Given the description of an element on the screen output the (x, y) to click on. 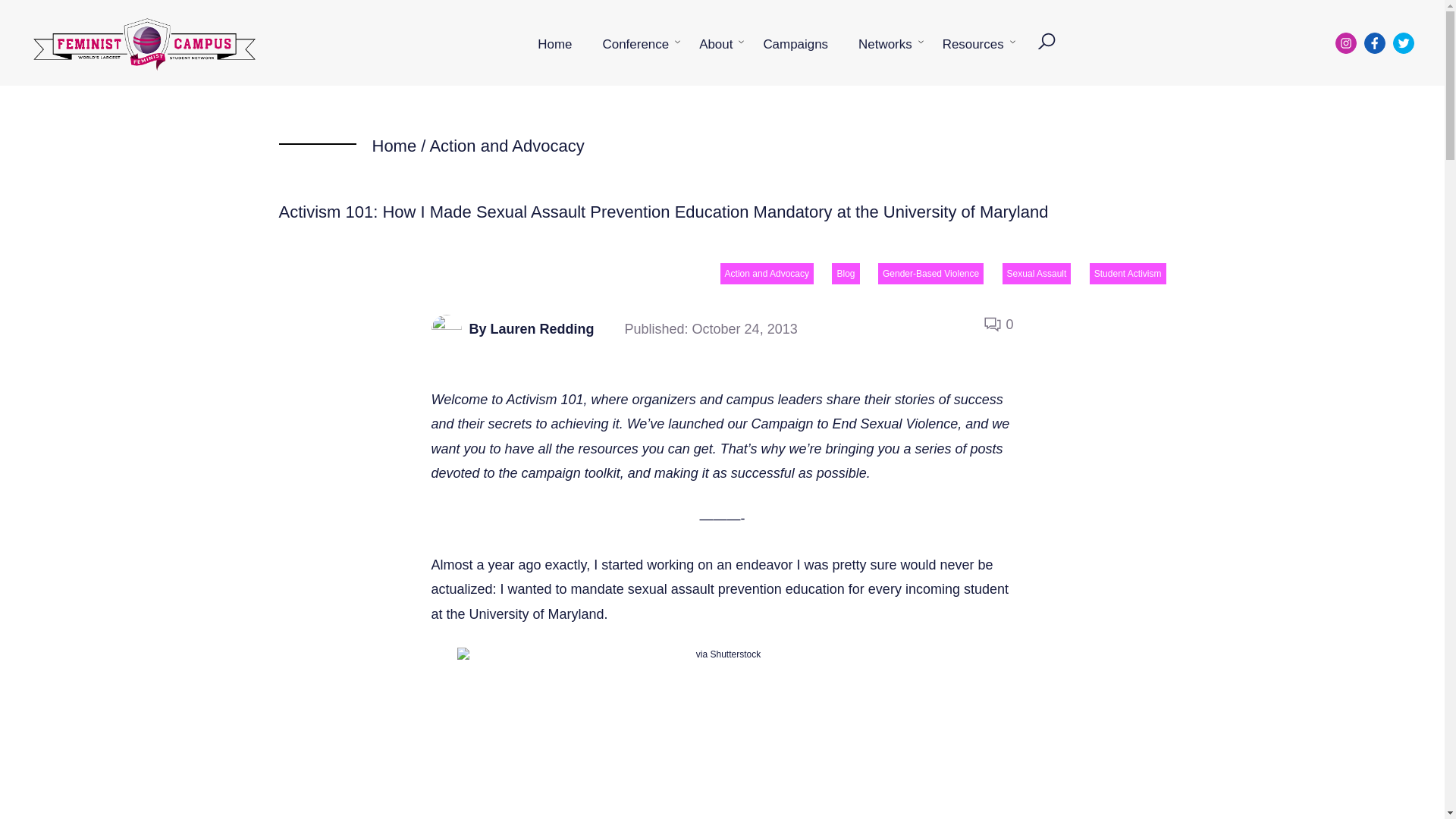
Resources (973, 44)
Networks (885, 44)
Conference (636, 44)
Home (554, 44)
Home (393, 145)
About (716, 44)
Campaigns (795, 44)
